Given the description of an element on the screen output the (x, y) to click on. 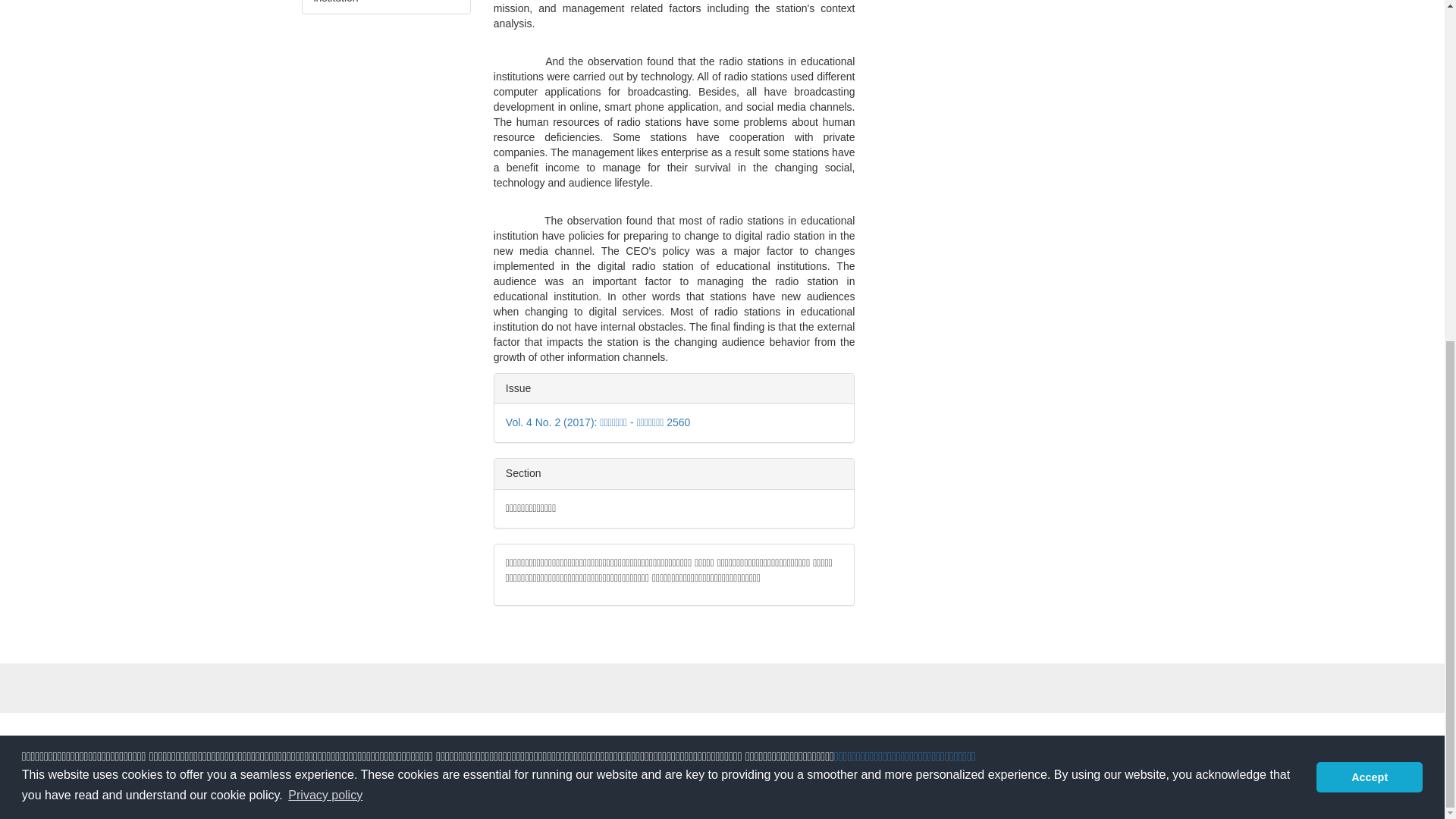
Privacy policy (325, 216)
Accept (1369, 198)
Privacy policy (1364, 233)
